Given the description of an element on the screen output the (x, y) to click on. 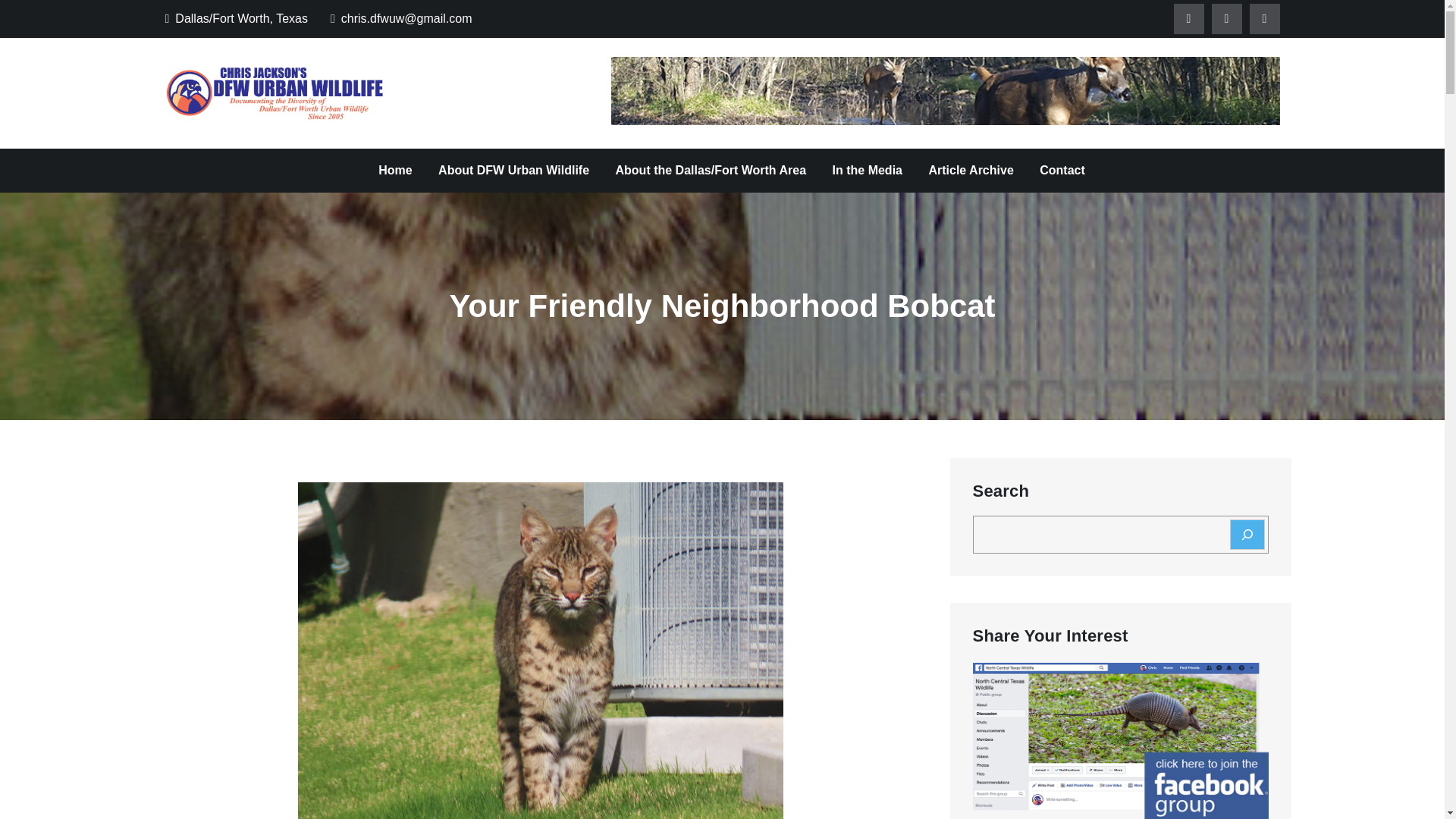
About DFW Urban Wildlife (512, 170)
Contact (1061, 170)
In the Media (867, 170)
Article Archive (971, 170)
DFW Urban Wildlife (509, 108)
Home (394, 170)
